Given the description of an element on the screen output the (x, y) to click on. 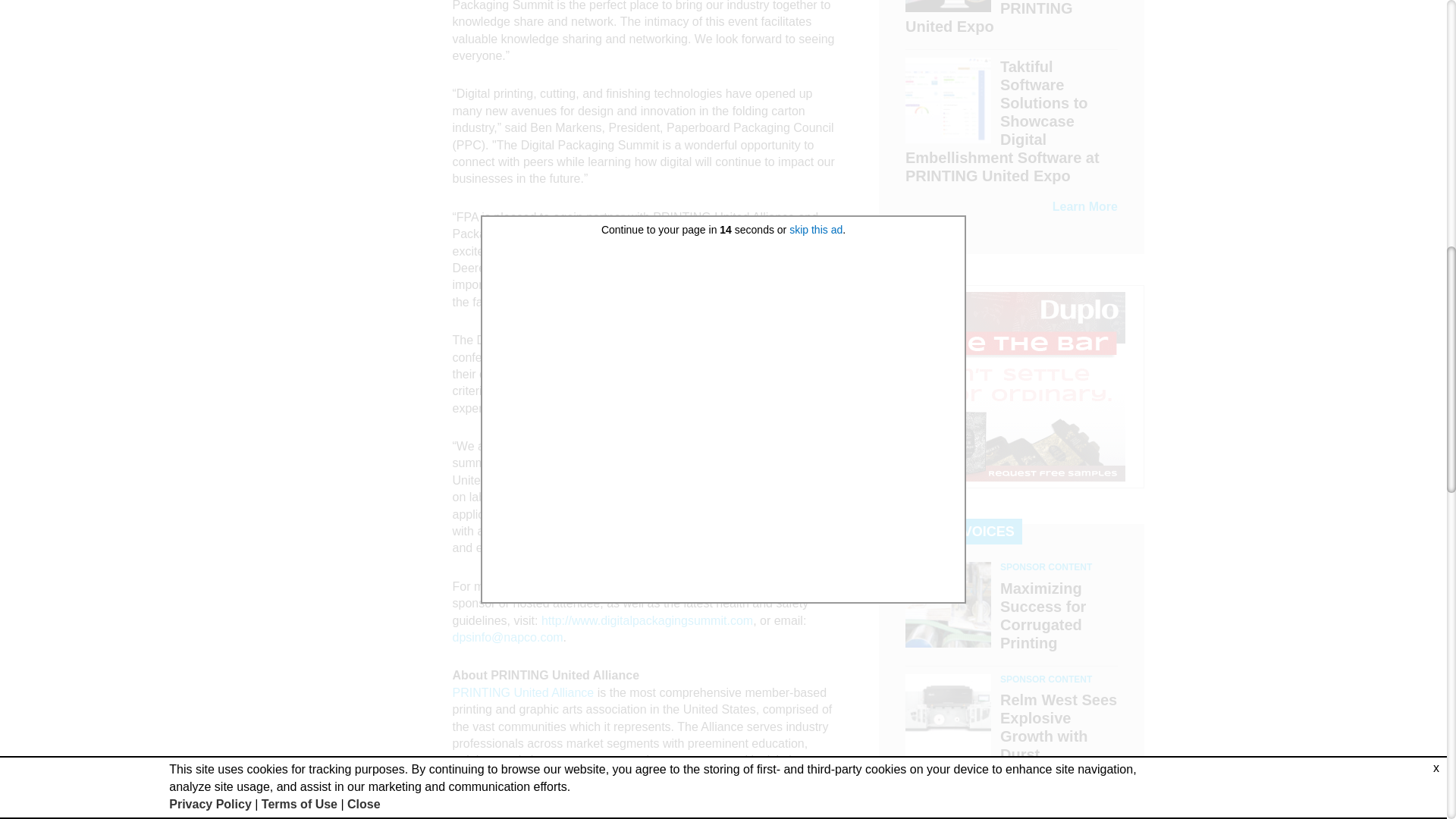
Opens in a new window (522, 692)
3rd party ad content (1011, 386)
Opens in a new window (764, 810)
Opens in a new window (646, 620)
